Given the description of an element on the screen output the (x, y) to click on. 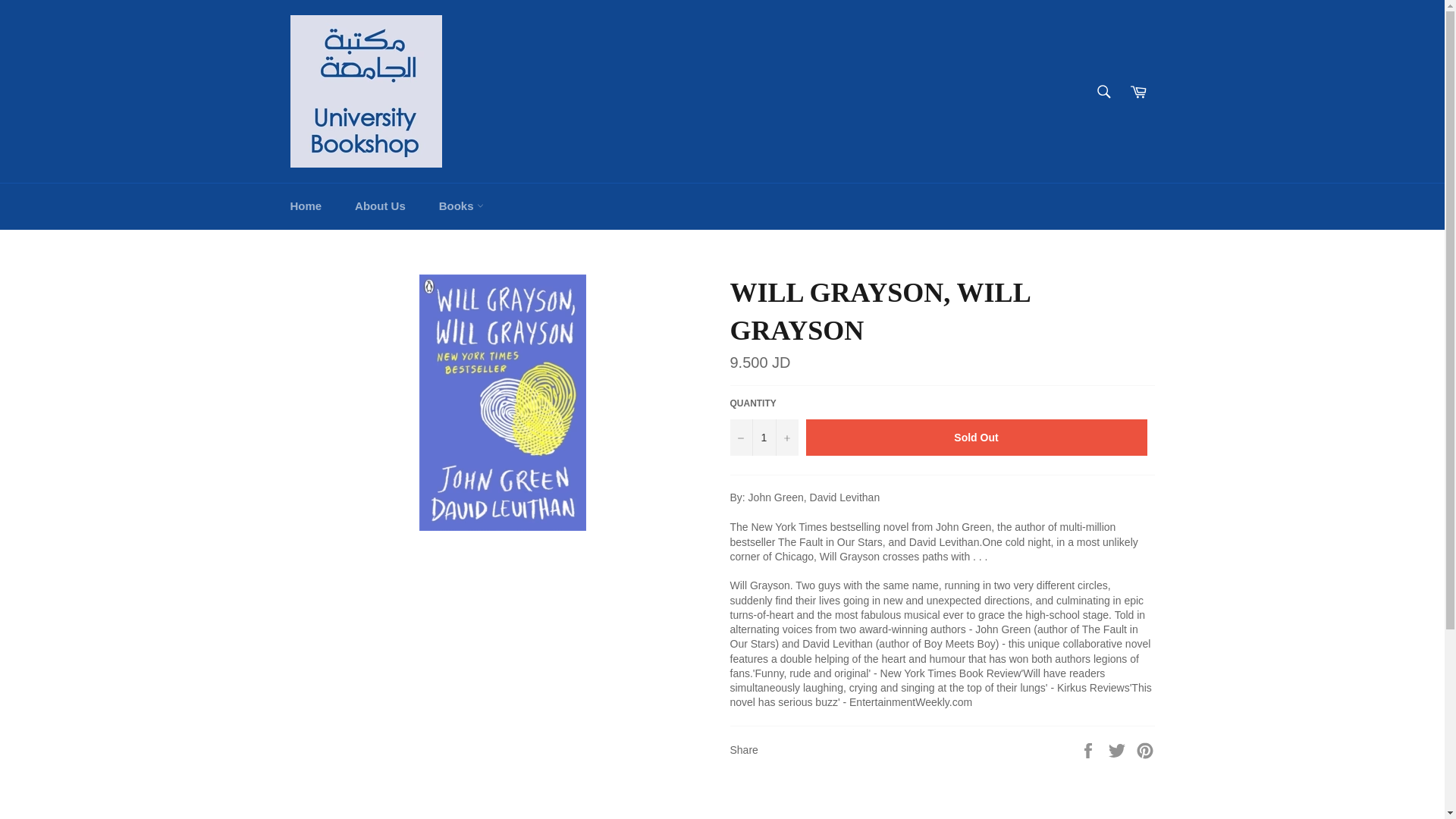
Pin on Pinterest (1144, 748)
Tweet on Twitter (1118, 748)
1 (763, 437)
Share on Facebook (1089, 748)
